Given the description of an element on the screen output the (x, y) to click on. 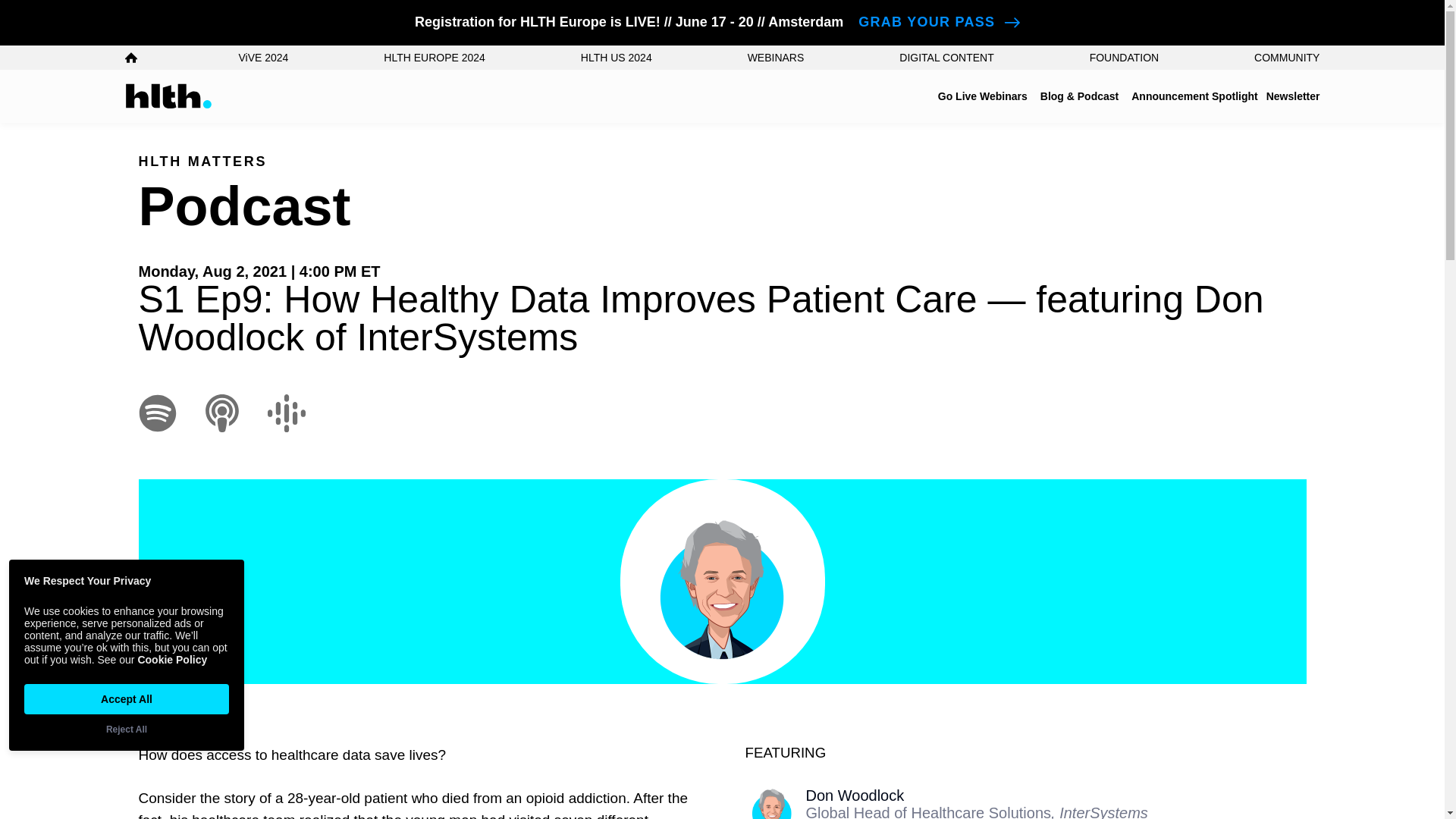
HLTH US 2024 (616, 57)
FOUNDATION (1123, 57)
ViVE 2024 (263, 57)
Announcement Spotlight (1194, 96)
HLTH EUROPE 2024 (434, 57)
Newsletter (1293, 95)
WEBINARS (776, 57)
GRAB YOUR PASS (944, 22)
DIGITAL CONTENT (945, 57)
COMMUNITY (1286, 57)
Go Live Webinars (982, 96)
GRAB YOUR PASS (944, 22)
